Given the description of an element on the screen output the (x, y) to click on. 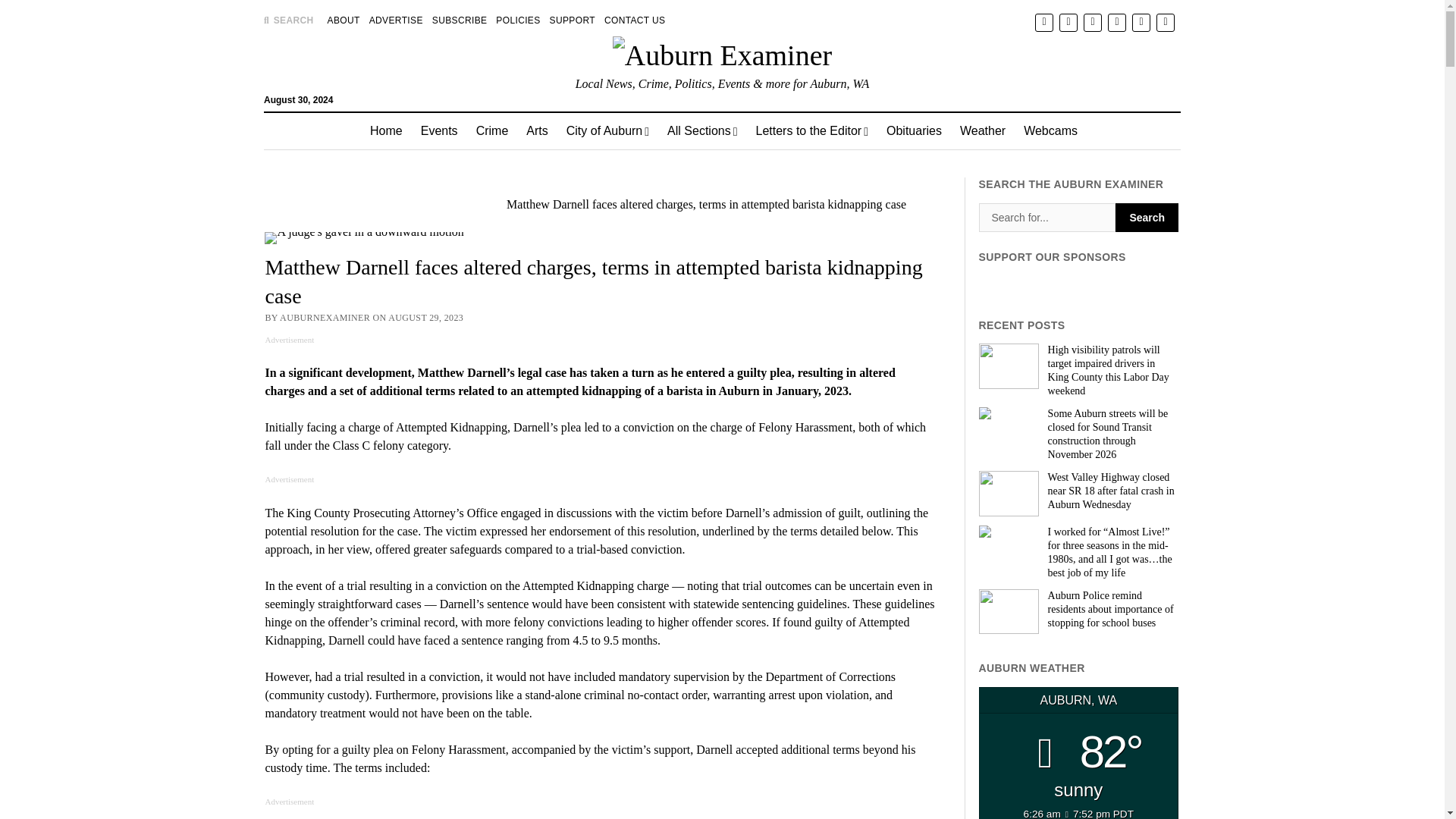
City of Auburn (607, 131)
ADVERTISE (396, 20)
Home (386, 131)
CONTACT US (634, 20)
Search (1146, 217)
phone (1165, 22)
SUBSCRIBE (459, 20)
Search (945, 129)
Search (1146, 217)
Arts (536, 131)
